Given the description of an element on the screen output the (x, y) to click on. 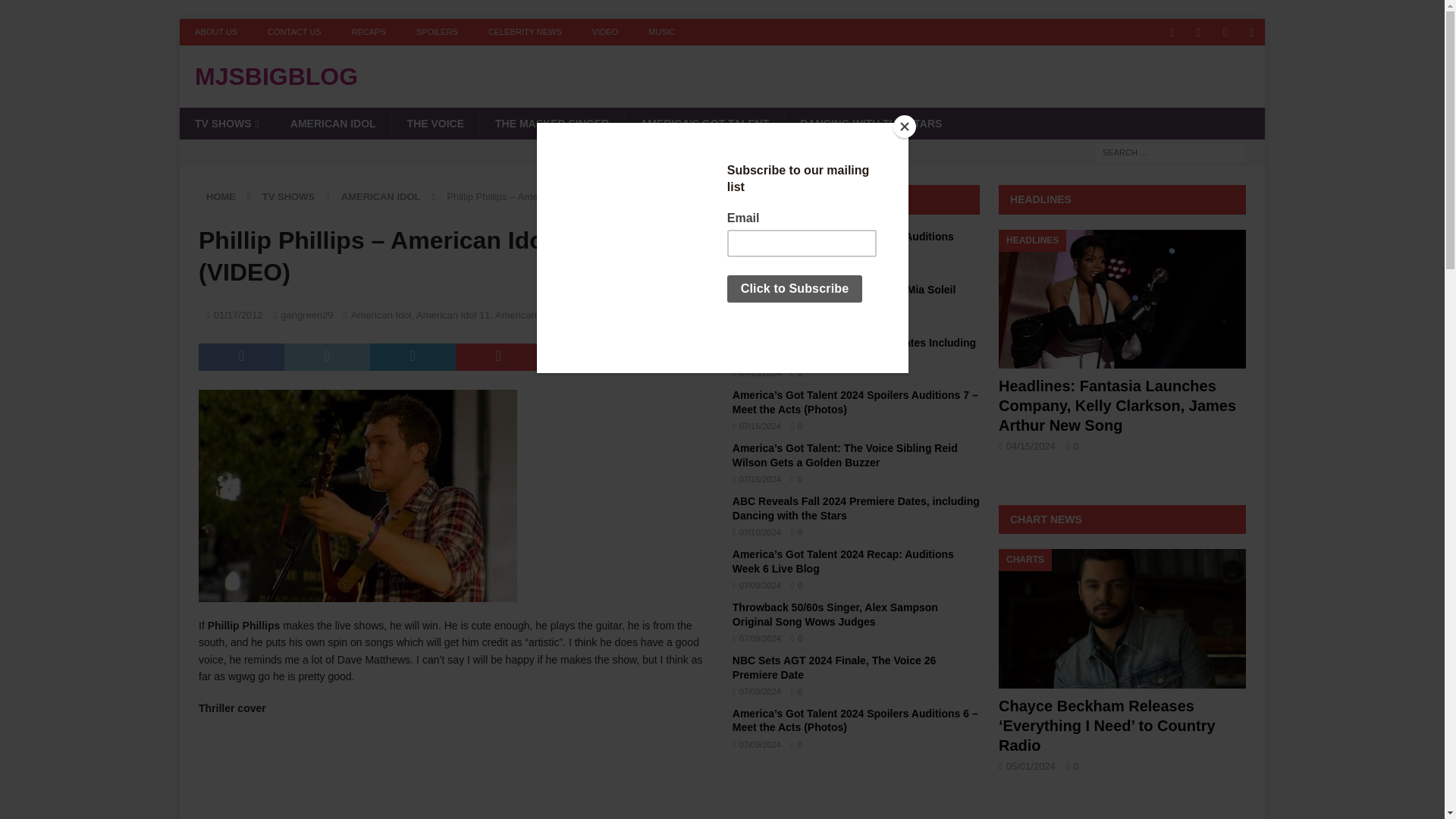
HOME (220, 196)
RECAPS (368, 31)
SPOILERS (437, 31)
MUSIC (661, 31)
TV SHOWS (227, 123)
Phillip Phillips  "SOLO"  Albany Star Finals Albany Ga (455, 775)
TV SHOWS (288, 196)
CONTACT US (293, 31)
THE MASKED SINGER (551, 123)
VIDEO (604, 31)
phillip-phillips-american-idol (357, 495)
AMERICAN IDOL (333, 123)
gangreen29 (307, 315)
mjsbigblog (722, 76)
Search (56, 11)
